Given the description of an element on the screen output the (x, y) to click on. 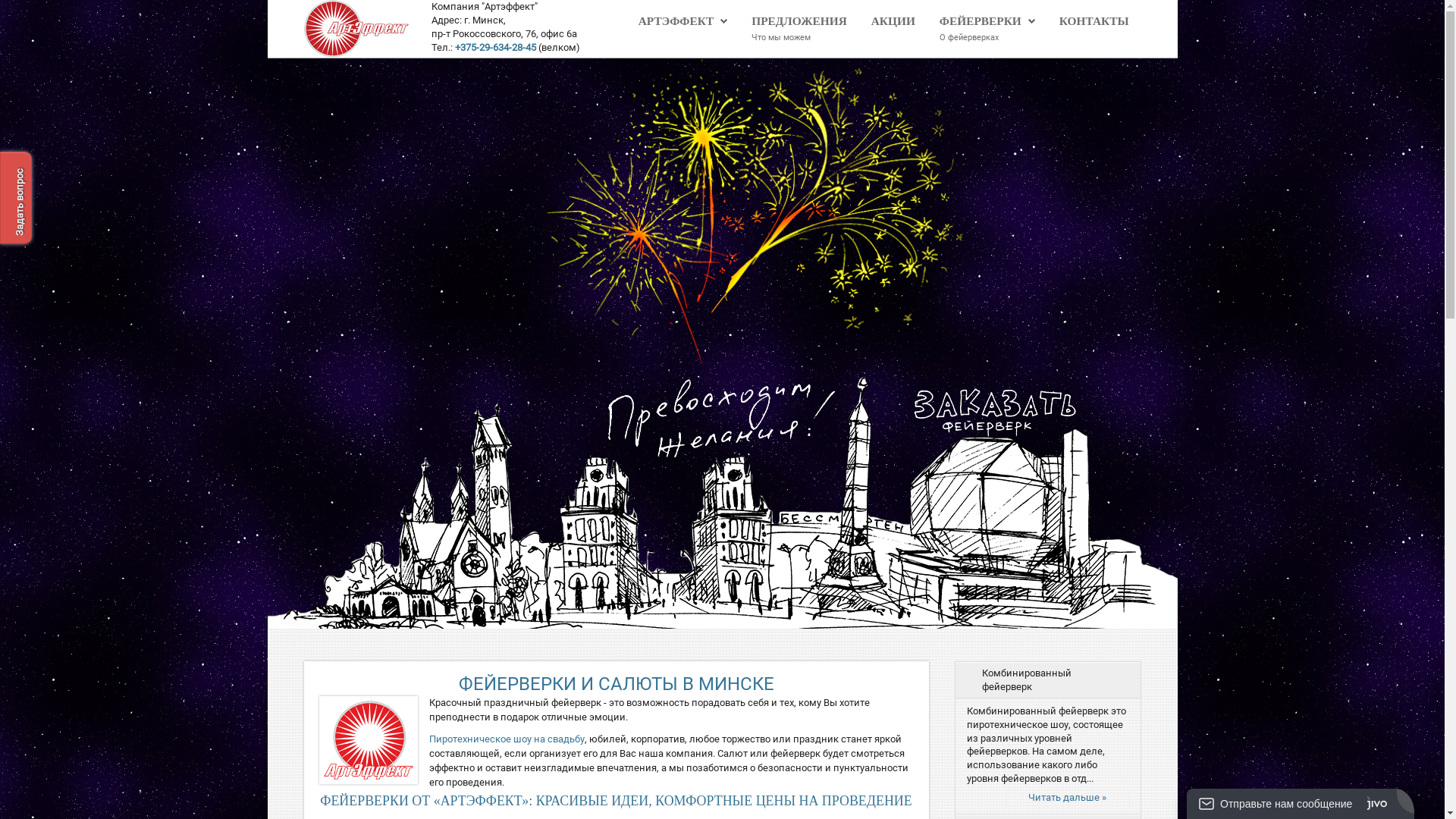
+375-29-634-28-45 Element type: text (495, 47)
